Given the description of an element on the screen output the (x, y) to click on. 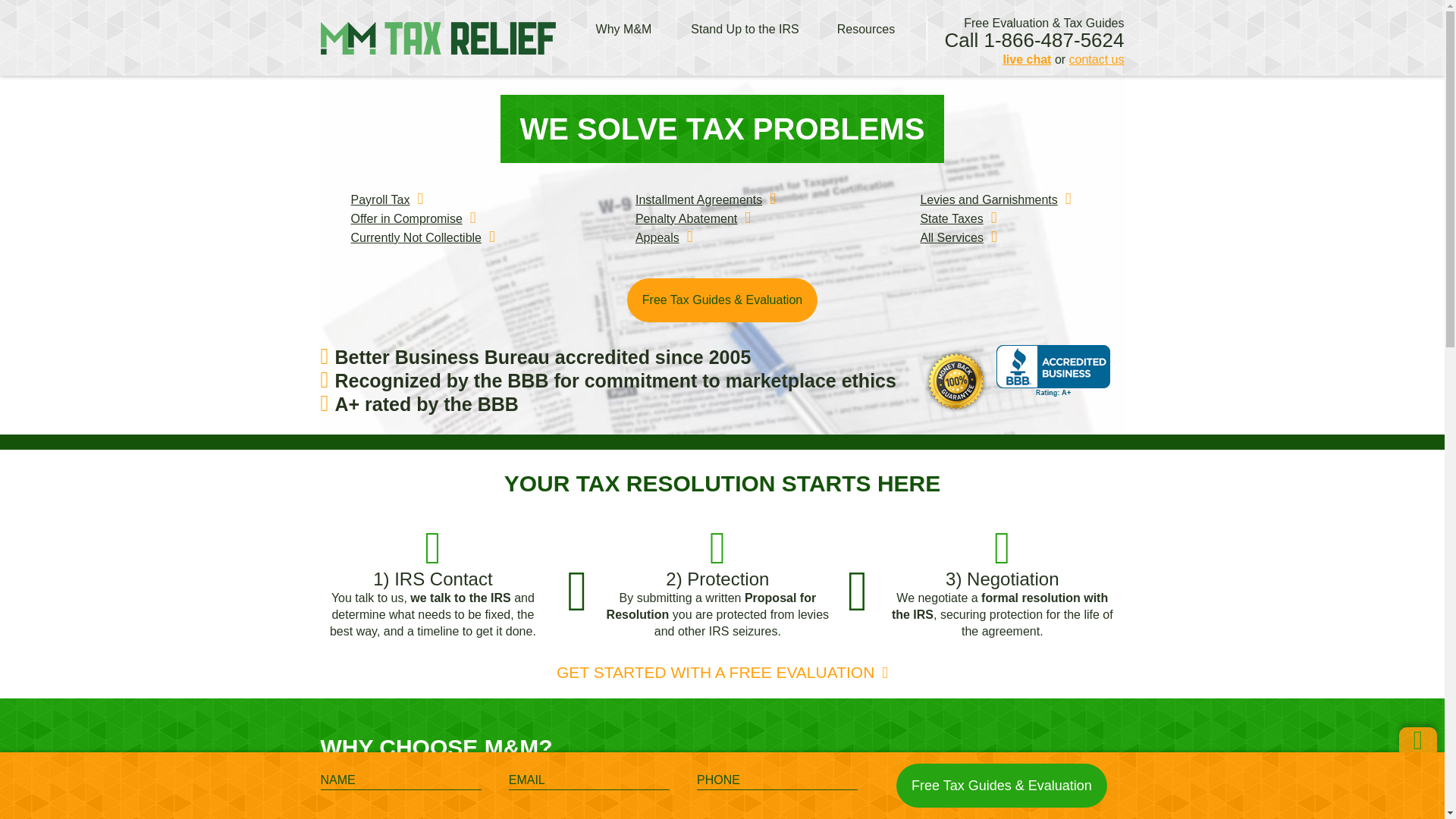
Name (400, 780)
Appeals (656, 237)
Offer in Compromise (405, 218)
Email (588, 780)
Phone (777, 780)
Stand Up to the IRS (745, 29)
Currently Not Collectible (415, 237)
Resources (866, 29)
Levies and Garnishments (988, 199)
Installment Agreements (697, 199)
